Given the description of an element on the screen output the (x, y) to click on. 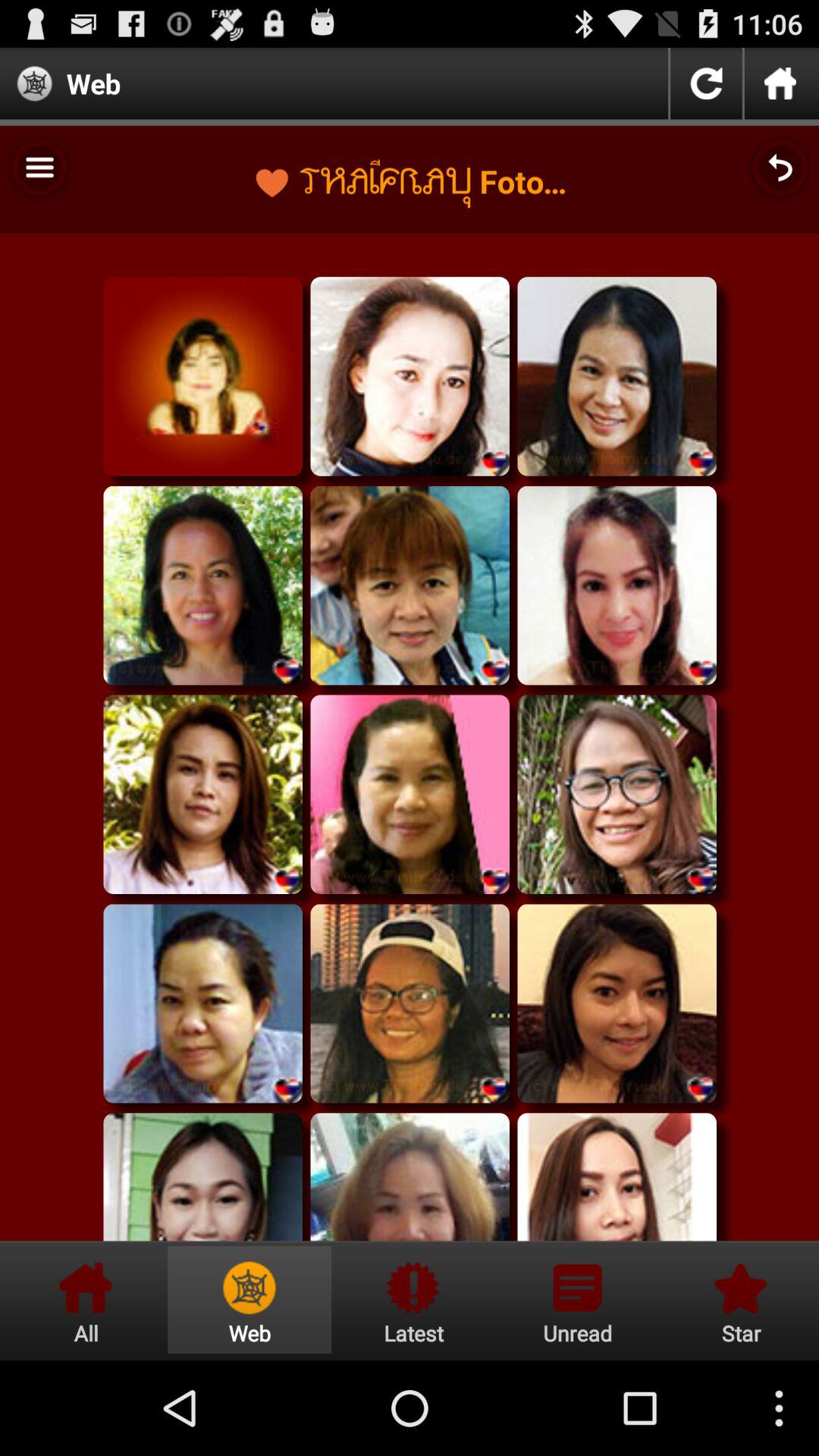
refresh icon (706, 83)
